Given the description of an element on the screen output the (x, y) to click on. 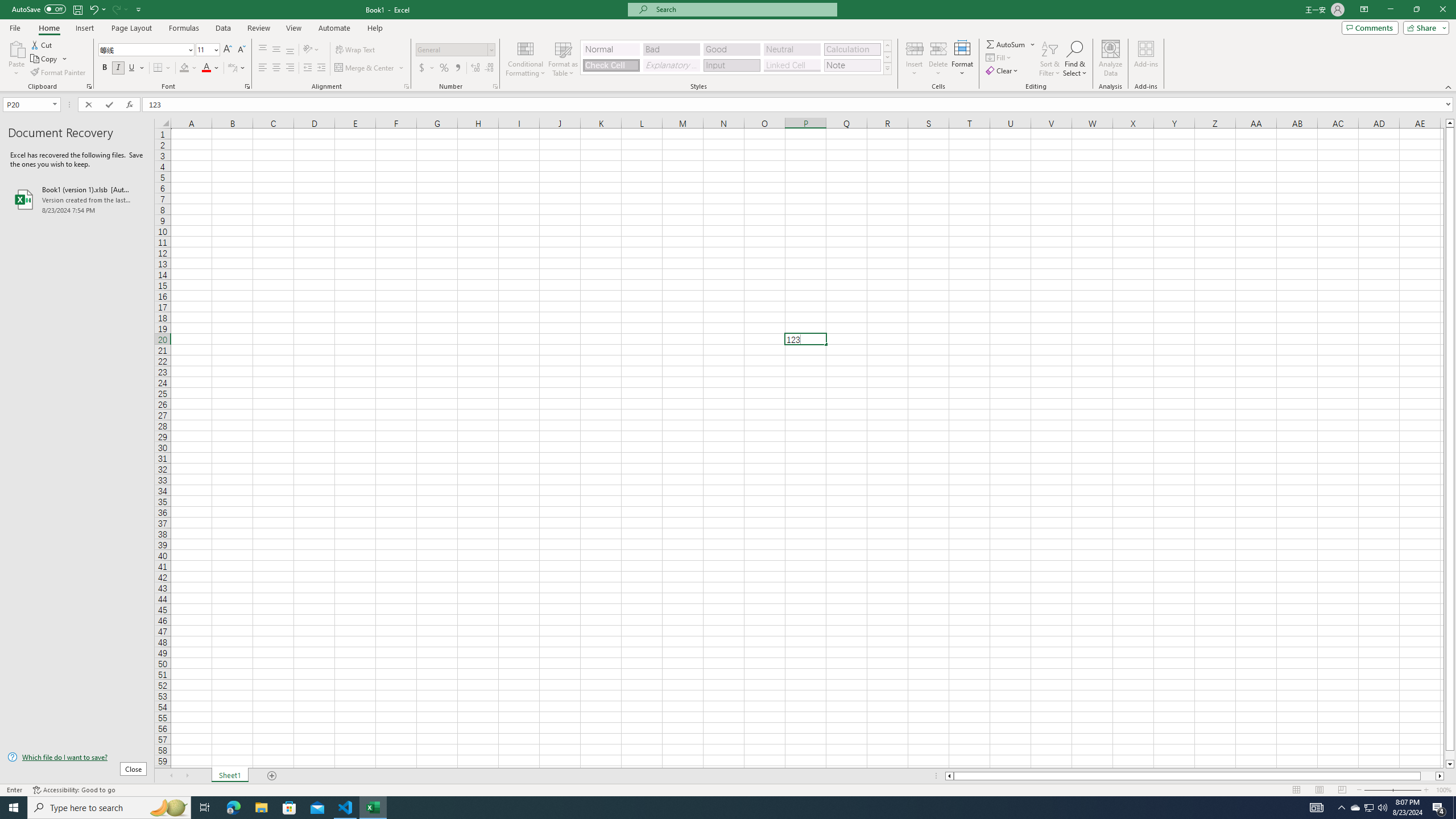
Fill (999, 56)
Format (962, 58)
Conditional Formatting (525, 58)
Delete (938, 58)
Underline (136, 67)
Font Size (207, 49)
Accounting Number Format (426, 67)
